Given the description of an element on the screen output the (x, y) to click on. 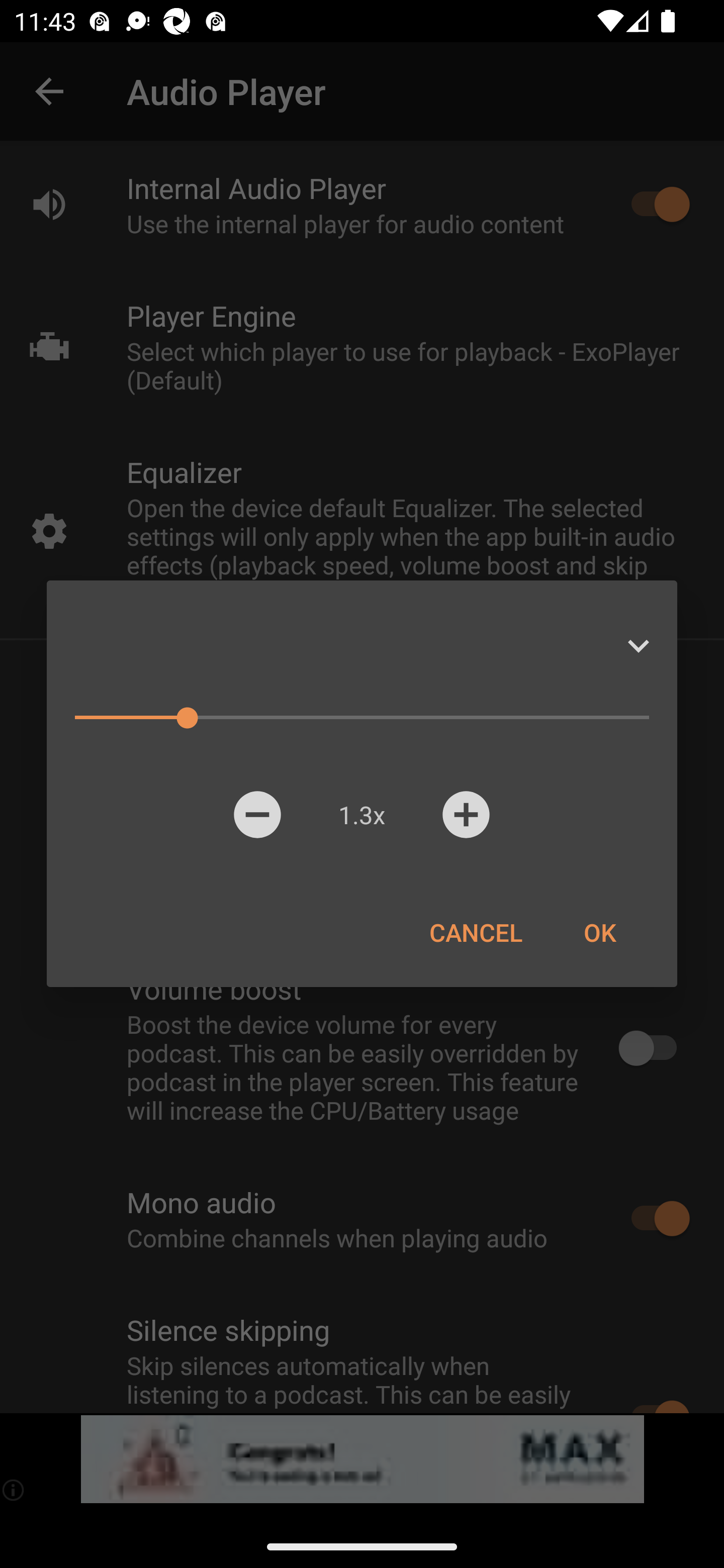
Expand (637, 645)
1.3x (361, 814)
CANCEL (475, 932)
OK (599, 932)
